Given the description of an element on the screen output the (x, y) to click on. 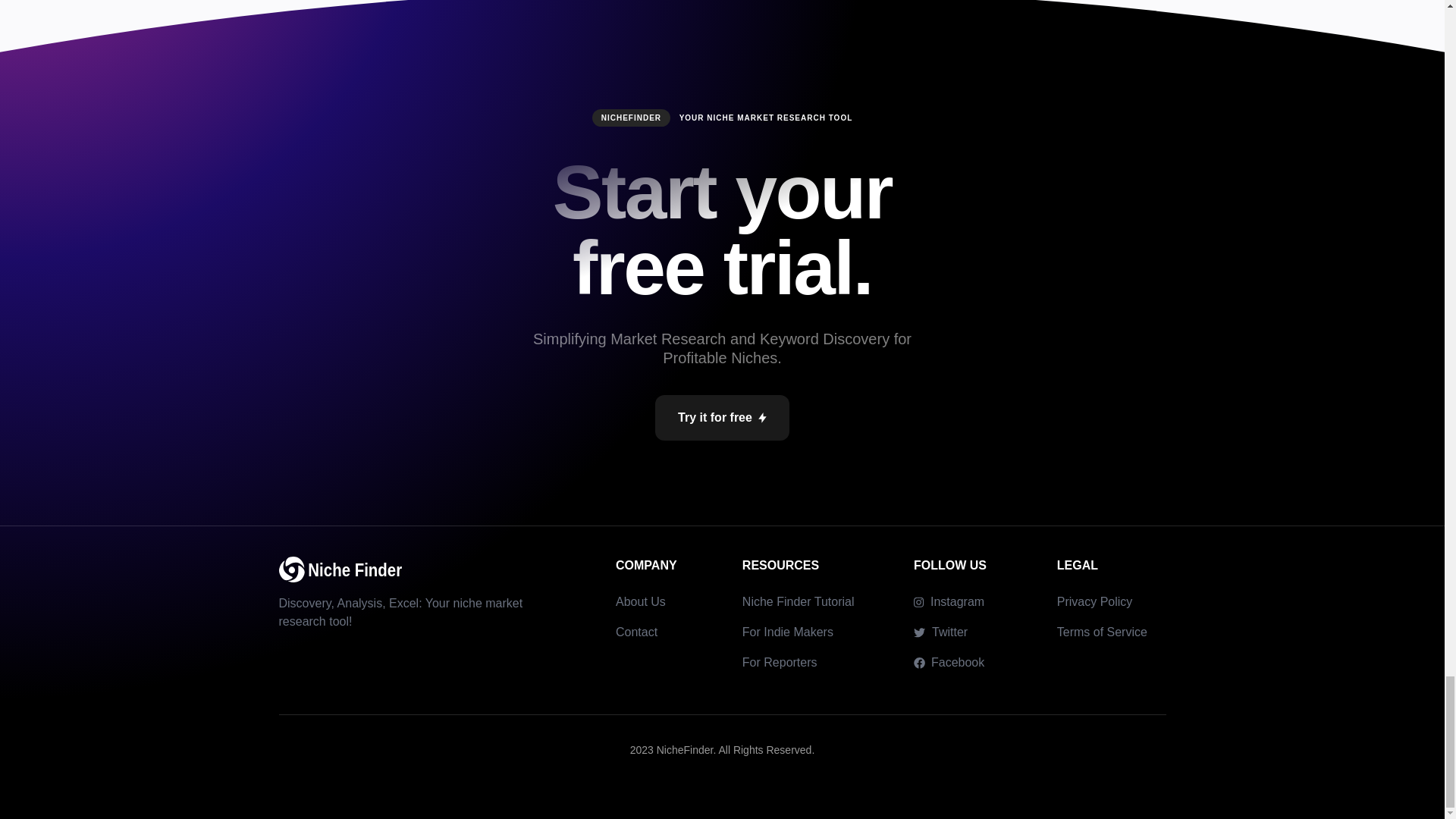
About Us (640, 601)
Terms of Service (1102, 631)
Twitter (941, 632)
Instagram (949, 601)
Contact (636, 631)
Facebook (949, 662)
Privacy Policy (1094, 601)
For Indie Makers (787, 631)
Niche Finder Tutorial (798, 601)
Try it for free (722, 417)
